Given the description of an element on the screen output the (x, y) to click on. 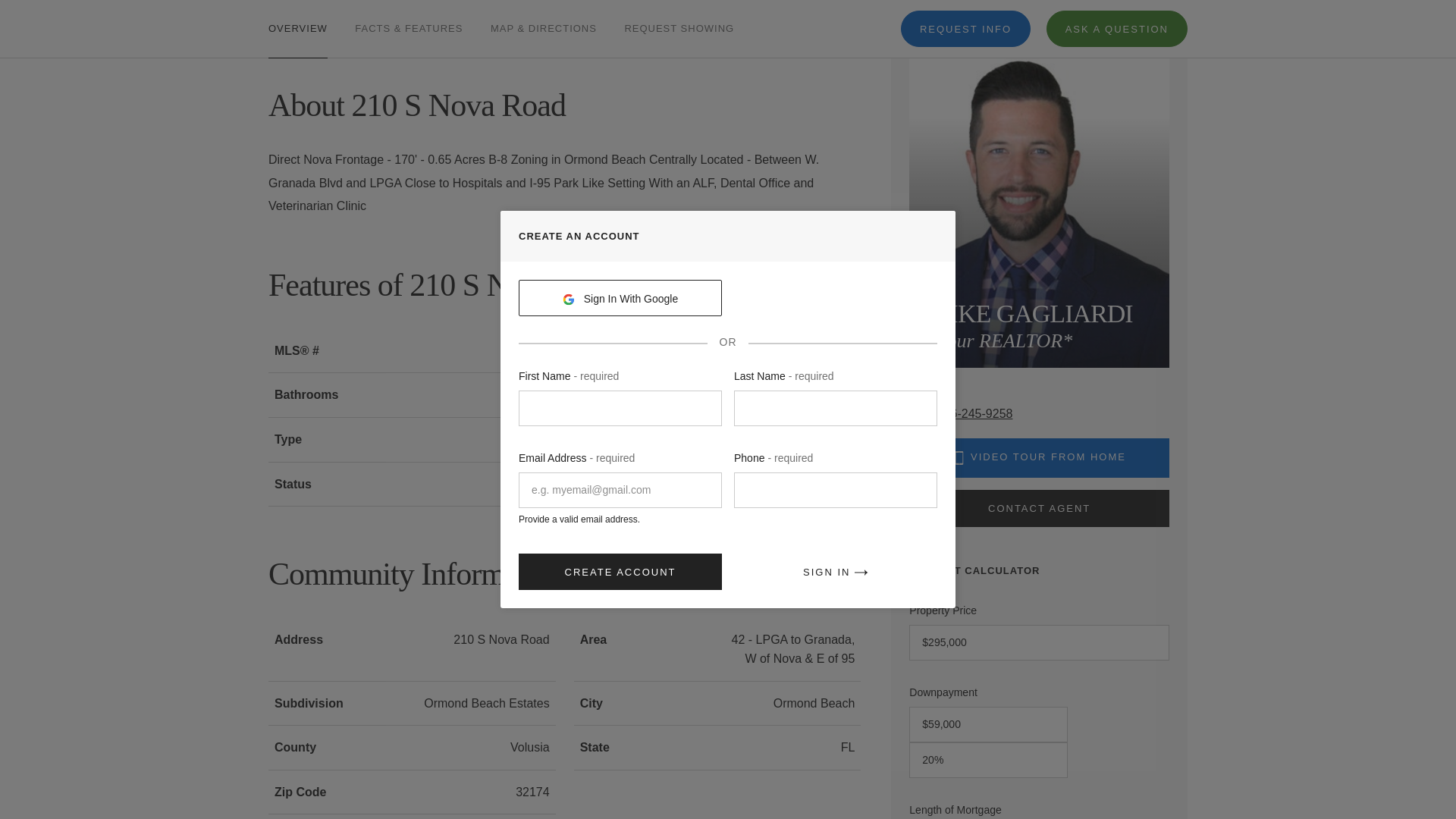
MOBILE ICON (959, 458)
